Given the description of an element on the screen output the (x, y) to click on. 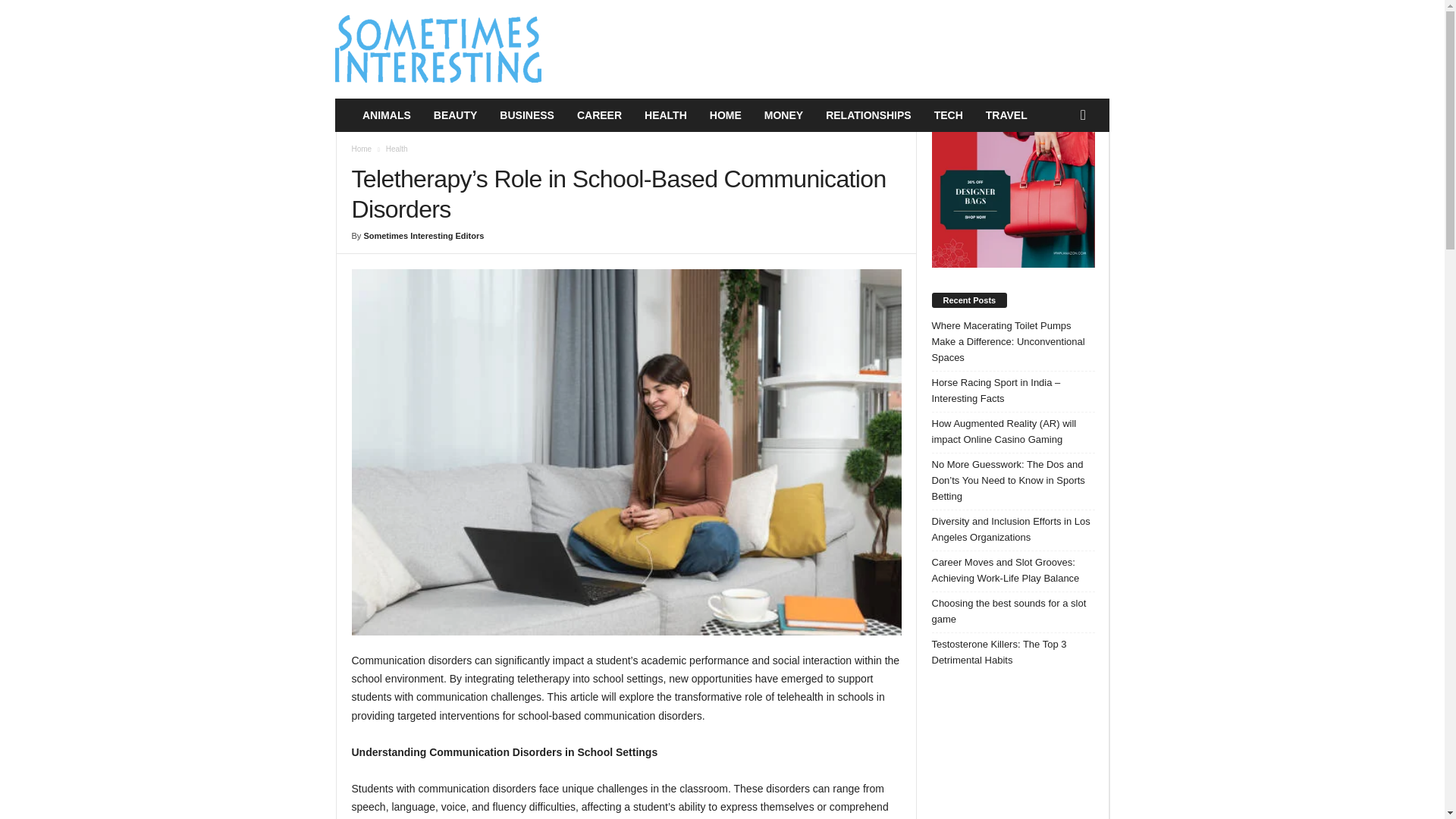
TECH (948, 114)
RELATIONSHIPS (868, 114)
Sometimes Interesting (437, 48)
BEAUTY (455, 114)
BUSINESS (526, 114)
HEALTH (665, 114)
MONEY (782, 114)
TRAVEL (1006, 114)
CAREER (599, 114)
